Given the description of an element on the screen output the (x, y) to click on. 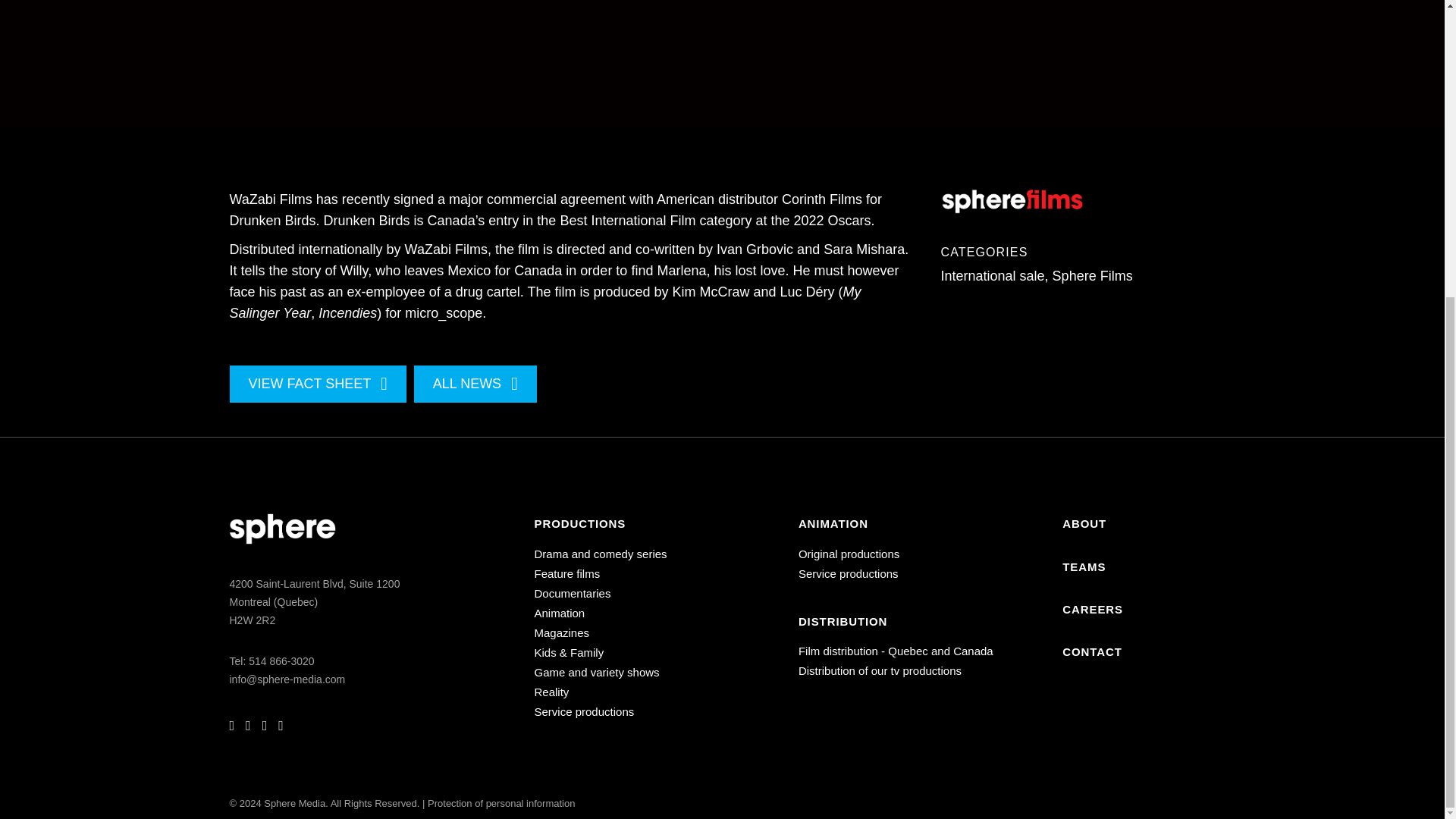
Sphere logo (281, 528)
SphereFilms (1011, 201)
